Given the description of an element on the screen output the (x, y) to click on. 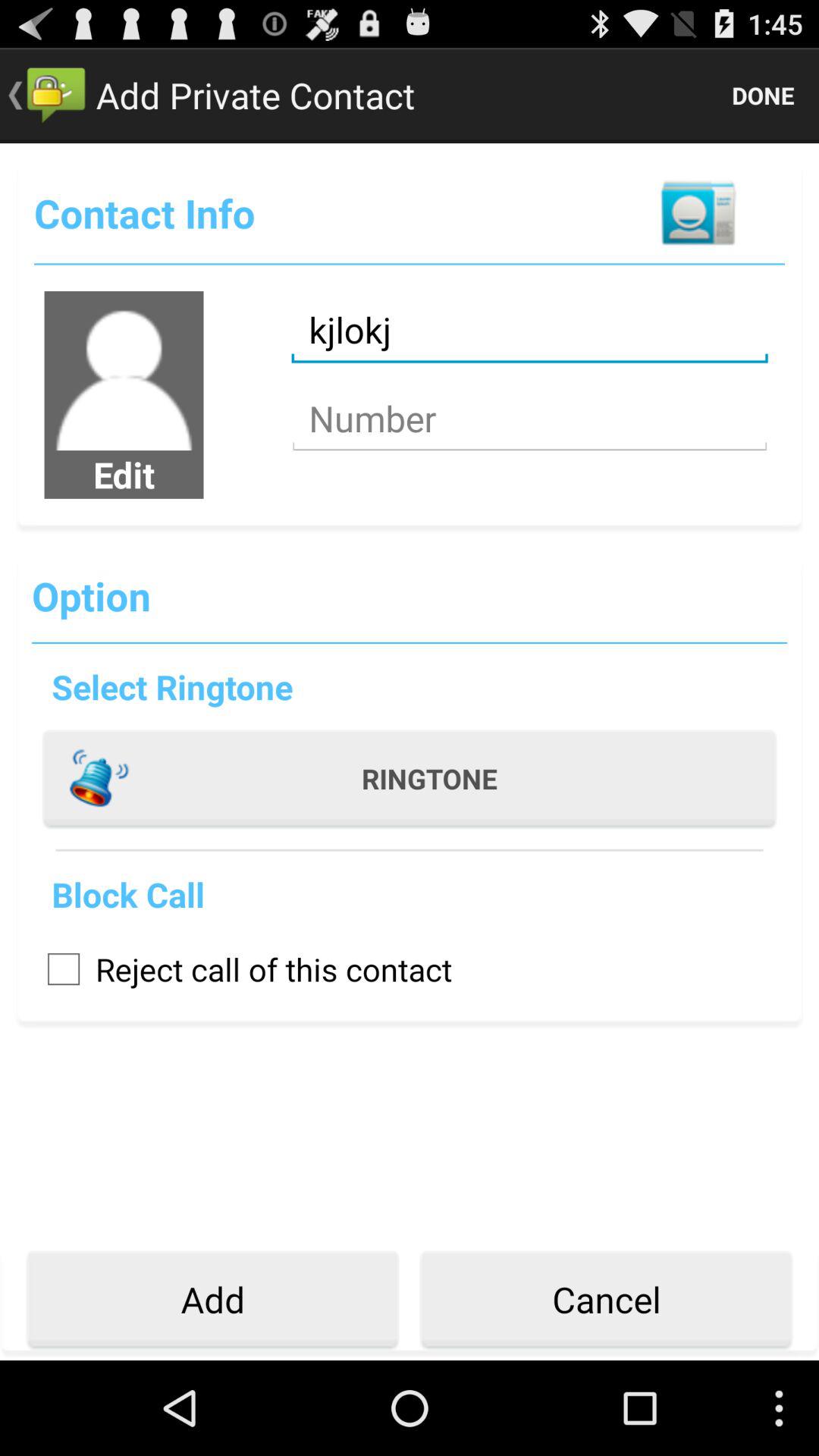
contact button (697, 213)
